Given the description of an element on the screen output the (x, y) to click on. 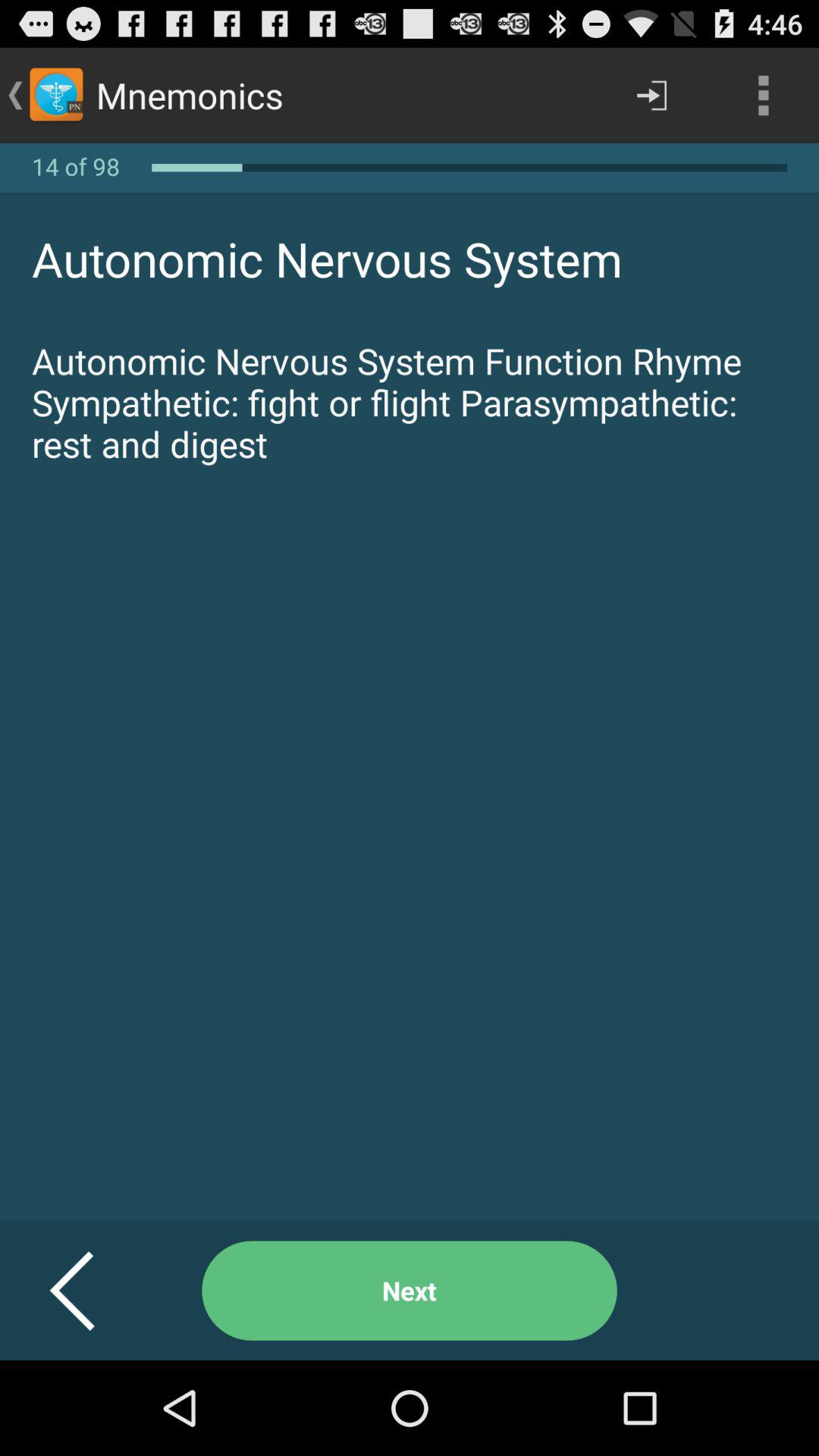
flip to the next item (409, 1290)
